Given the description of an element on the screen output the (x, y) to click on. 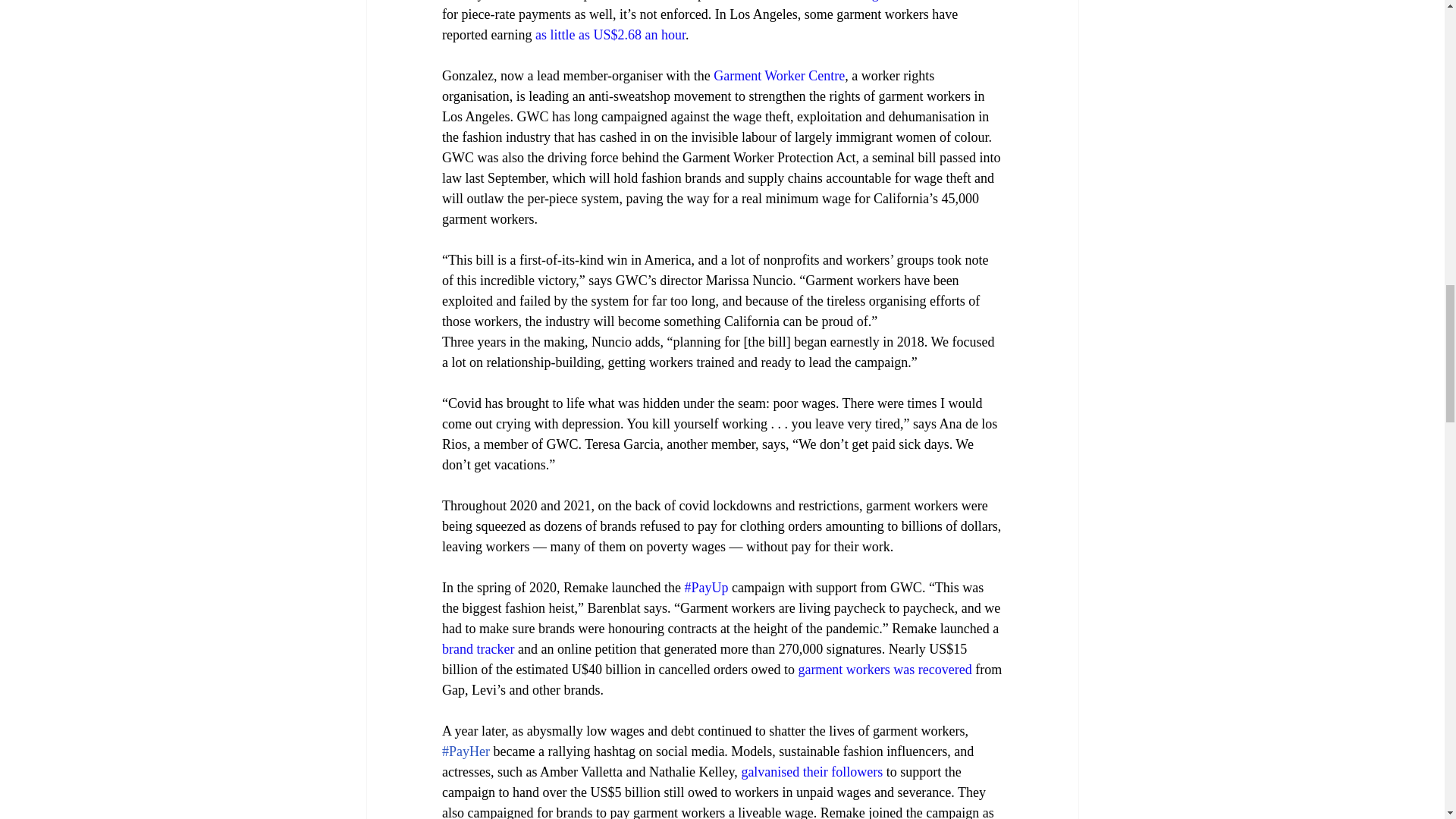
garment workers was recovered (884, 669)
federal minimum wage (820, 0)
brand tracker (477, 648)
galvanised their followers (811, 771)
Garment Worker Cent (773, 75)
